Given the description of an element on the screen output the (x, y) to click on. 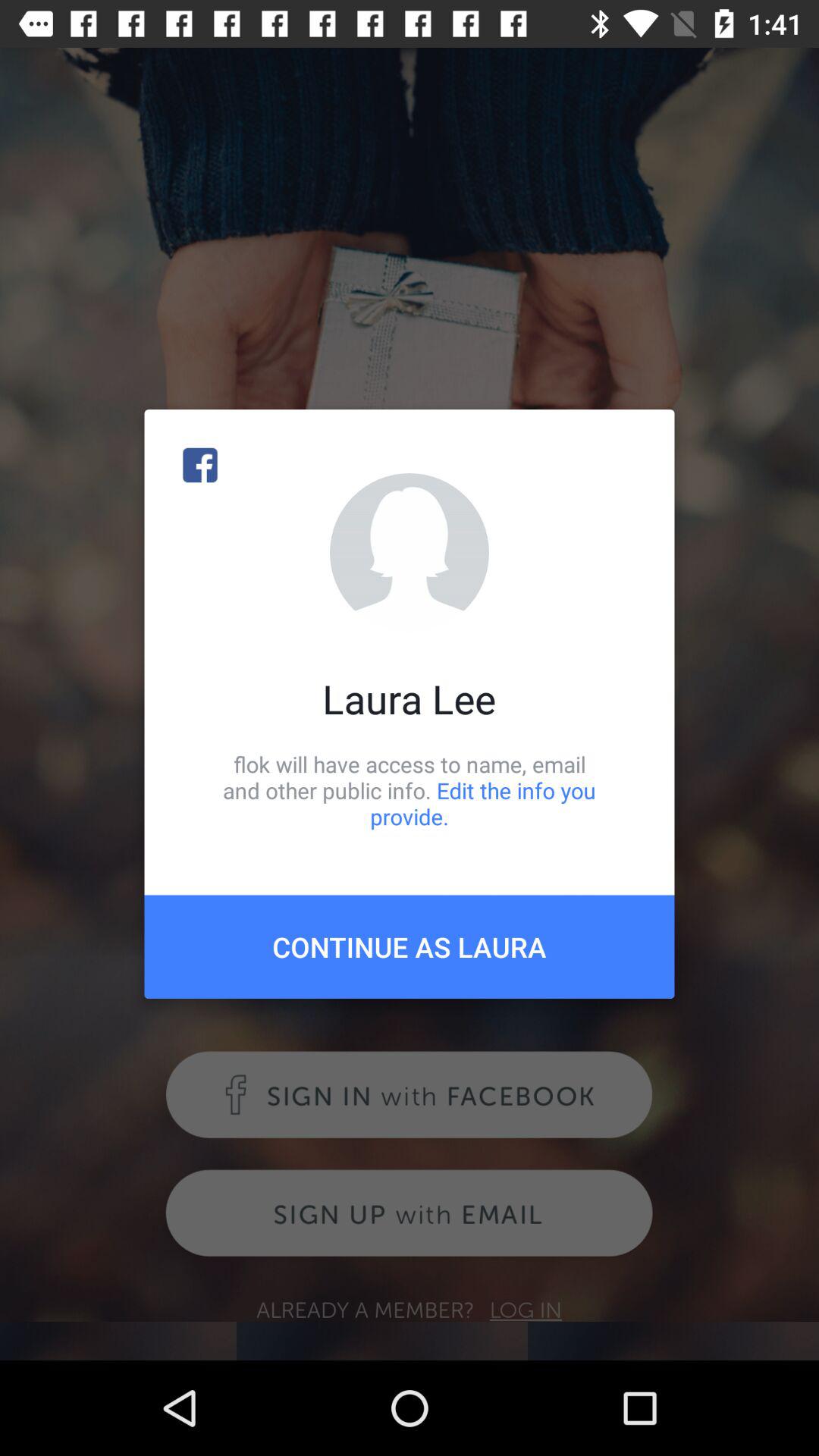
choose item above the continue as laura item (409, 790)
